Given the description of an element on the screen output the (x, y) to click on. 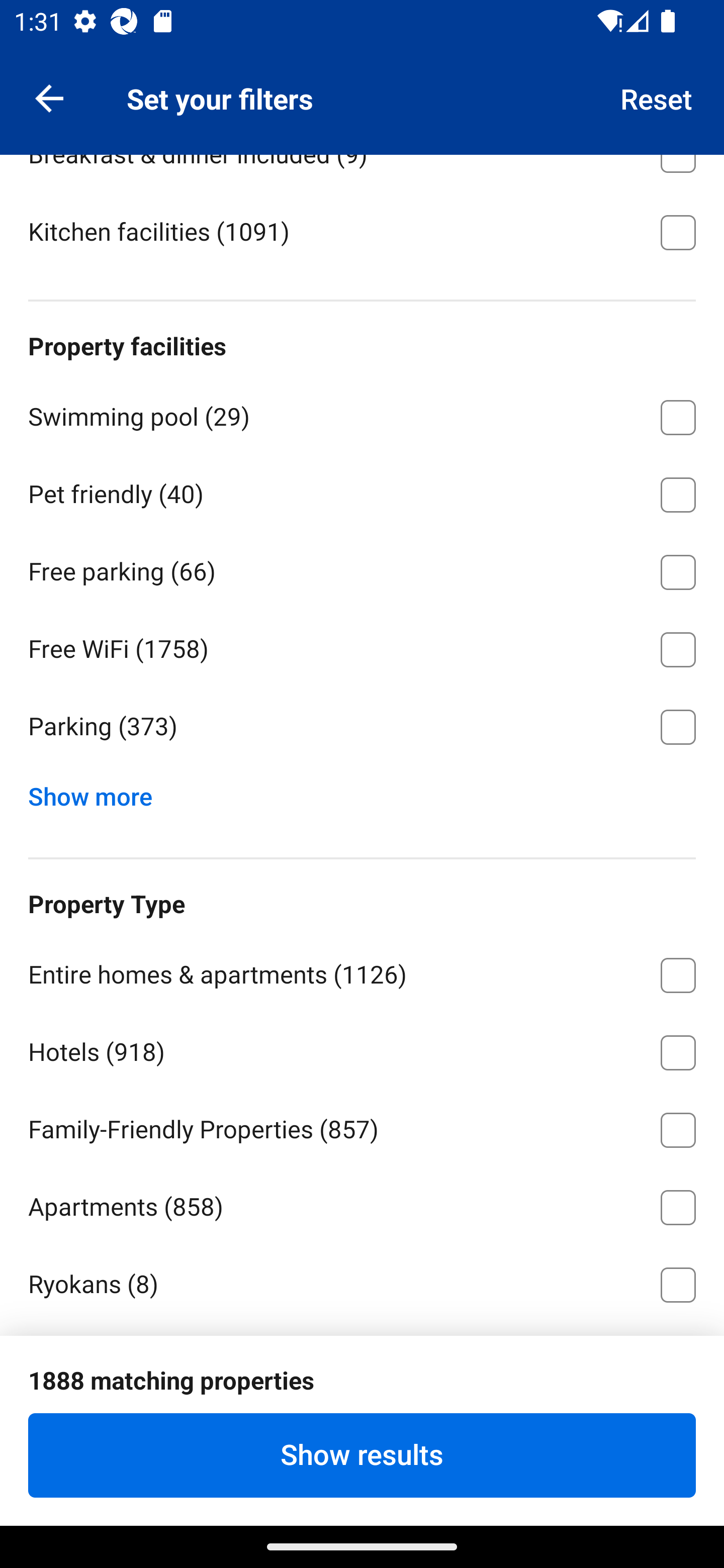
Breakfast Included ⁦(457) (361, 74)
Navigate up (49, 97)
Reset (656, 97)
Kitchen facilities ⁦(1091) (361, 230)
Swimming pool ⁦(29) (361, 413)
Pet friendly ⁦(40) (361, 491)
Free parking ⁦(66) (361, 568)
Free WiFi ⁦(1758) (361, 646)
Parking ⁦(373) (361, 727)
Show more (97, 792)
Entire homes & apartments ⁦(1126) (361, 971)
Hotels ⁦(918) (361, 1049)
Family-Friendly Properties ⁦(857) (361, 1126)
Apartments ⁦(858) (361, 1204)
Ryokans ⁦(8) (361, 1284)
Show results (361, 1454)
